Given the description of an element on the screen output the (x, y) to click on. 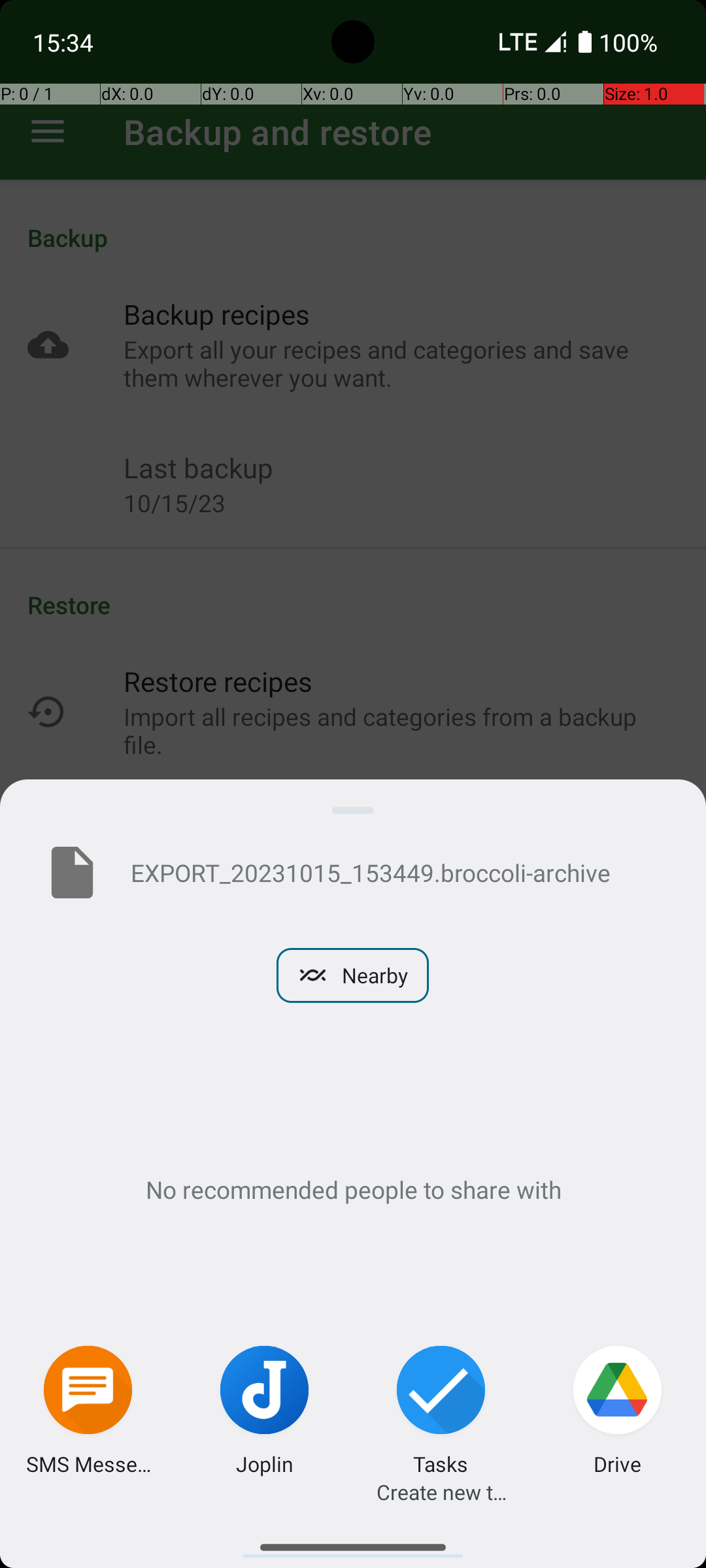
EXPORT_20231015_153449.broccoli-archive Element type: android.widget.TextView (397, 872)
